Given the description of an element on the screen output the (x, y) to click on. 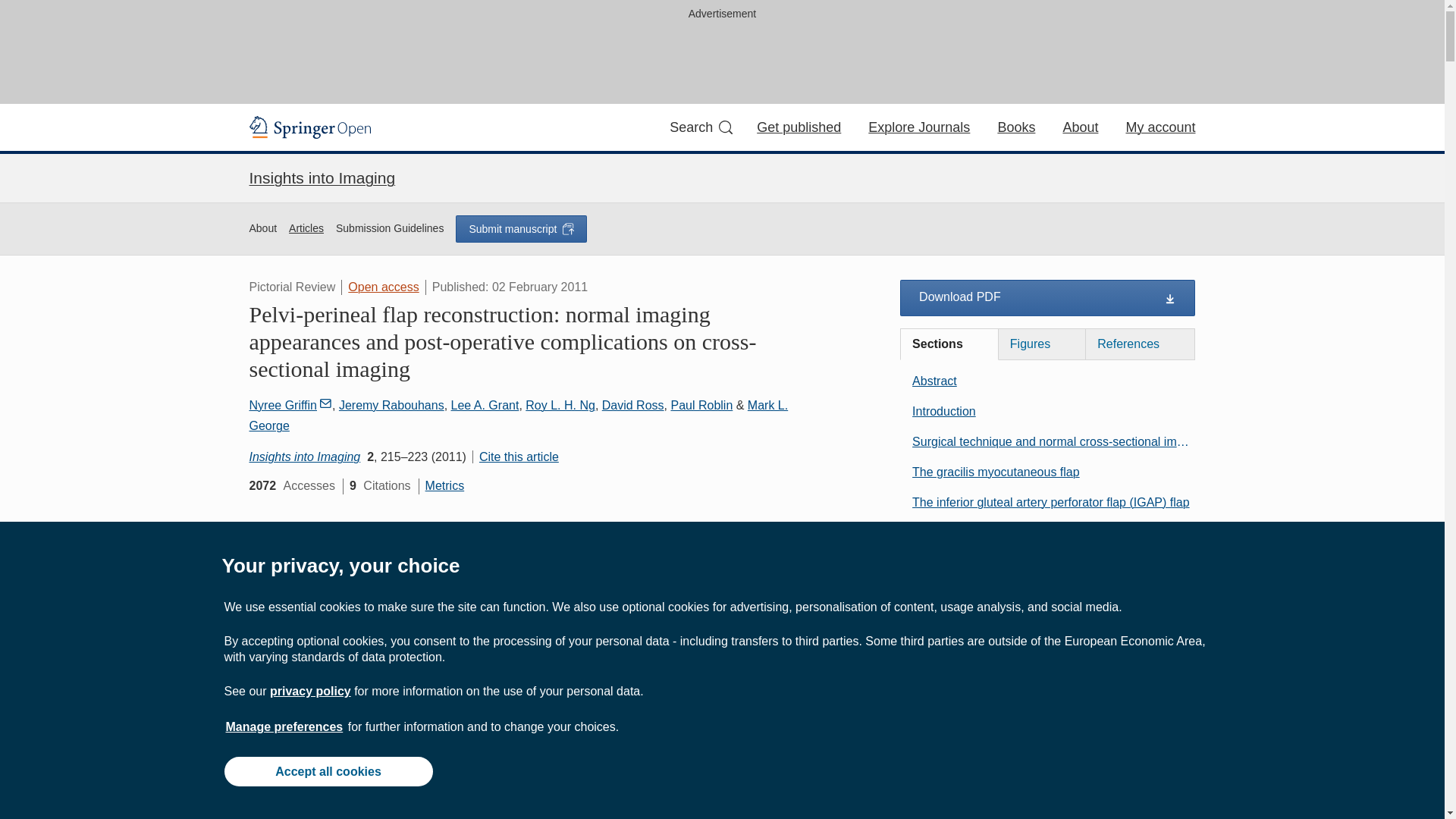
Jeremy Rabouhans (391, 404)
Get published (799, 127)
About (262, 228)
Explore Journals (918, 127)
Submission Guidelines (390, 228)
Cite this article (515, 456)
David Ross (632, 404)
Open access (383, 286)
Nyree Griffin (289, 404)
About (1079, 127)
My account (1160, 127)
Metrics (444, 485)
Paul Roblin (700, 404)
privacy policy (309, 690)
Roy L. H. Ng (560, 404)
